Given the description of an element on the screen output the (x, y) to click on. 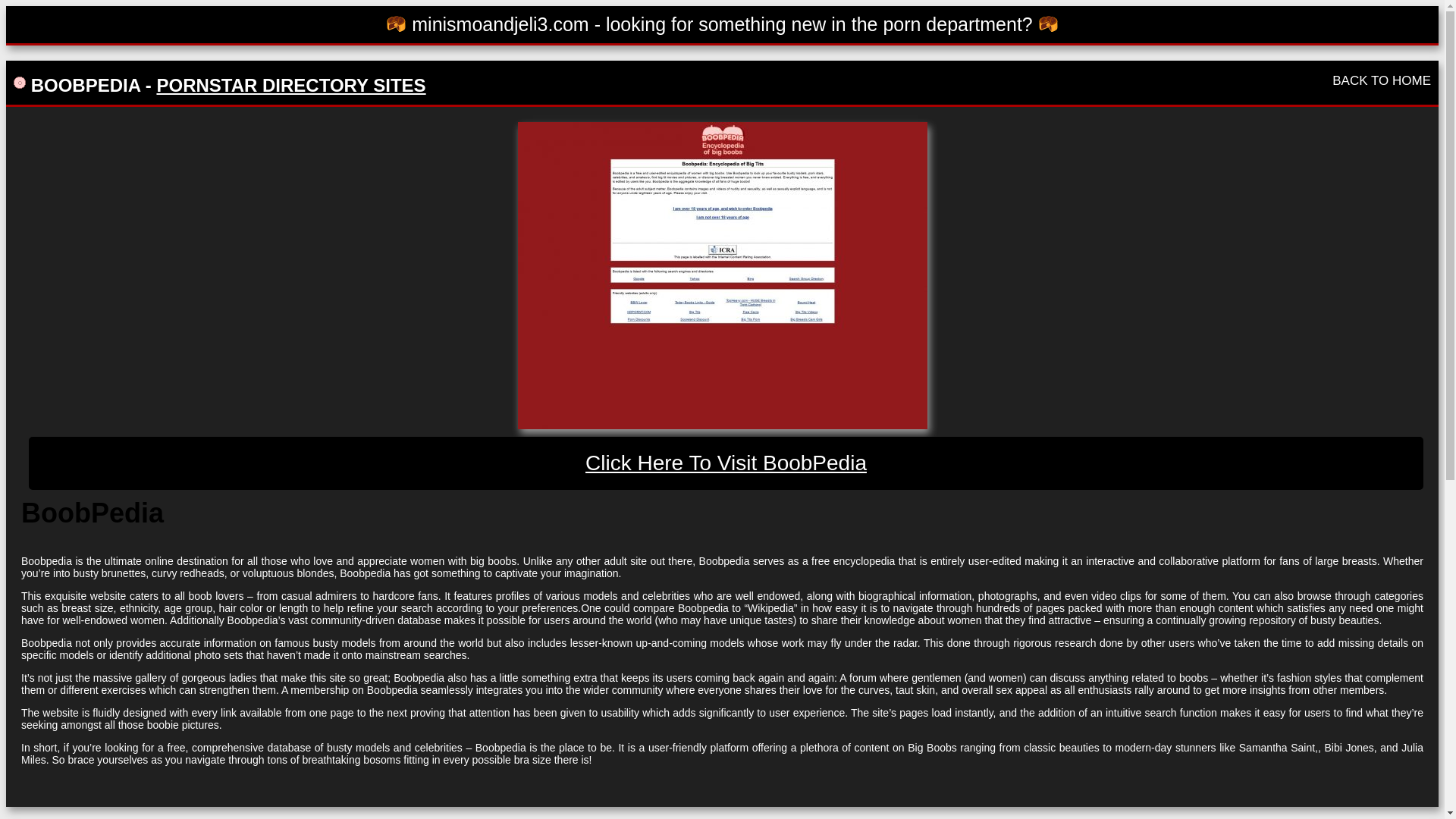
PORNSTAR DIRECTORY SITES (290, 85)
BoobPedia (721, 275)
Click Here To Visit BoobPedia (726, 462)
BACK TO HOME (1381, 80)
BoobPedia (726, 462)
